Given the description of an element on the screen output the (x, y) to click on. 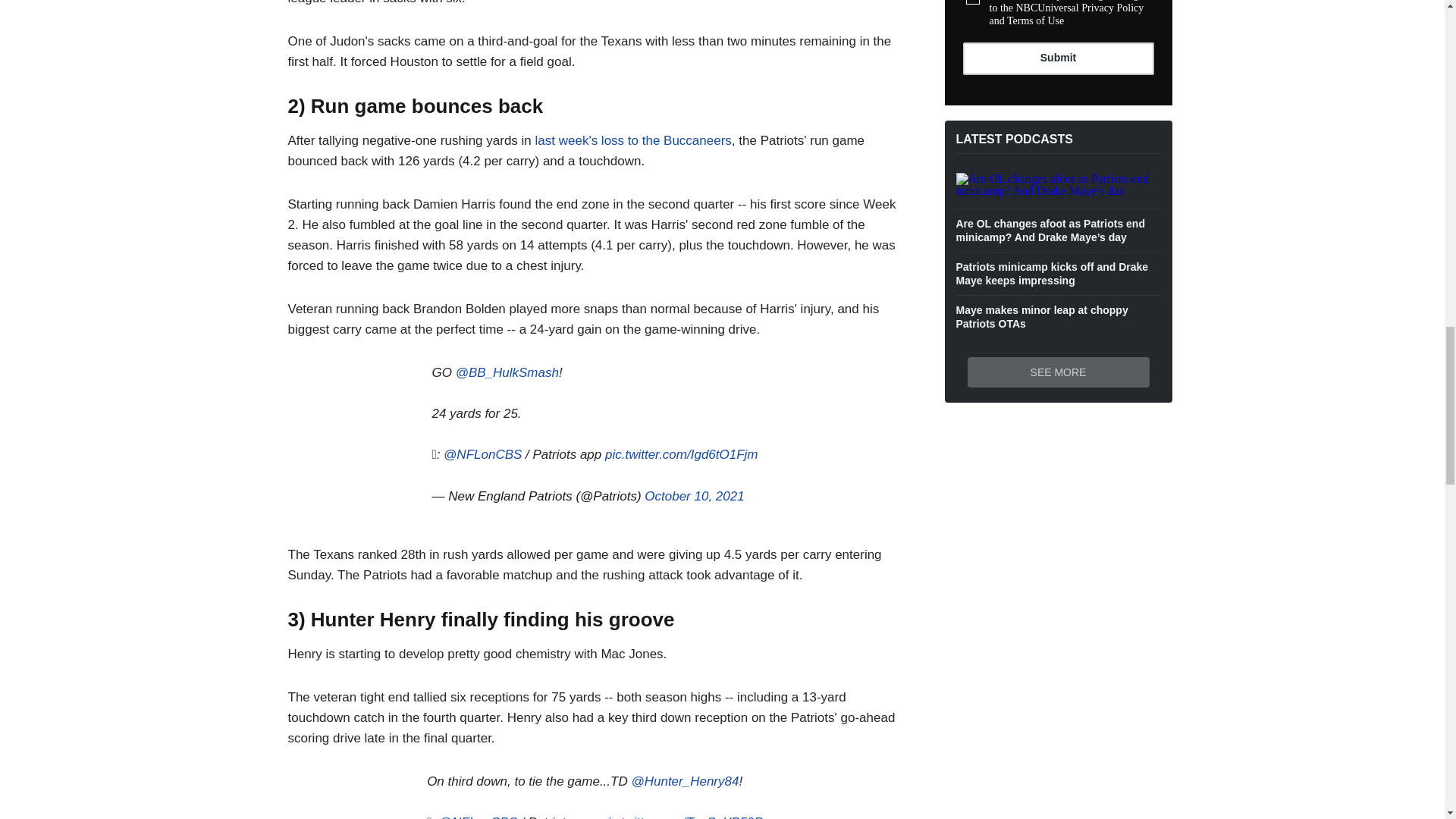
October 10, 2021 (694, 495)
on (972, 2)
last week's loss to the Buccaneers (633, 140)
